Given the description of an element on the screen output the (x, y) to click on. 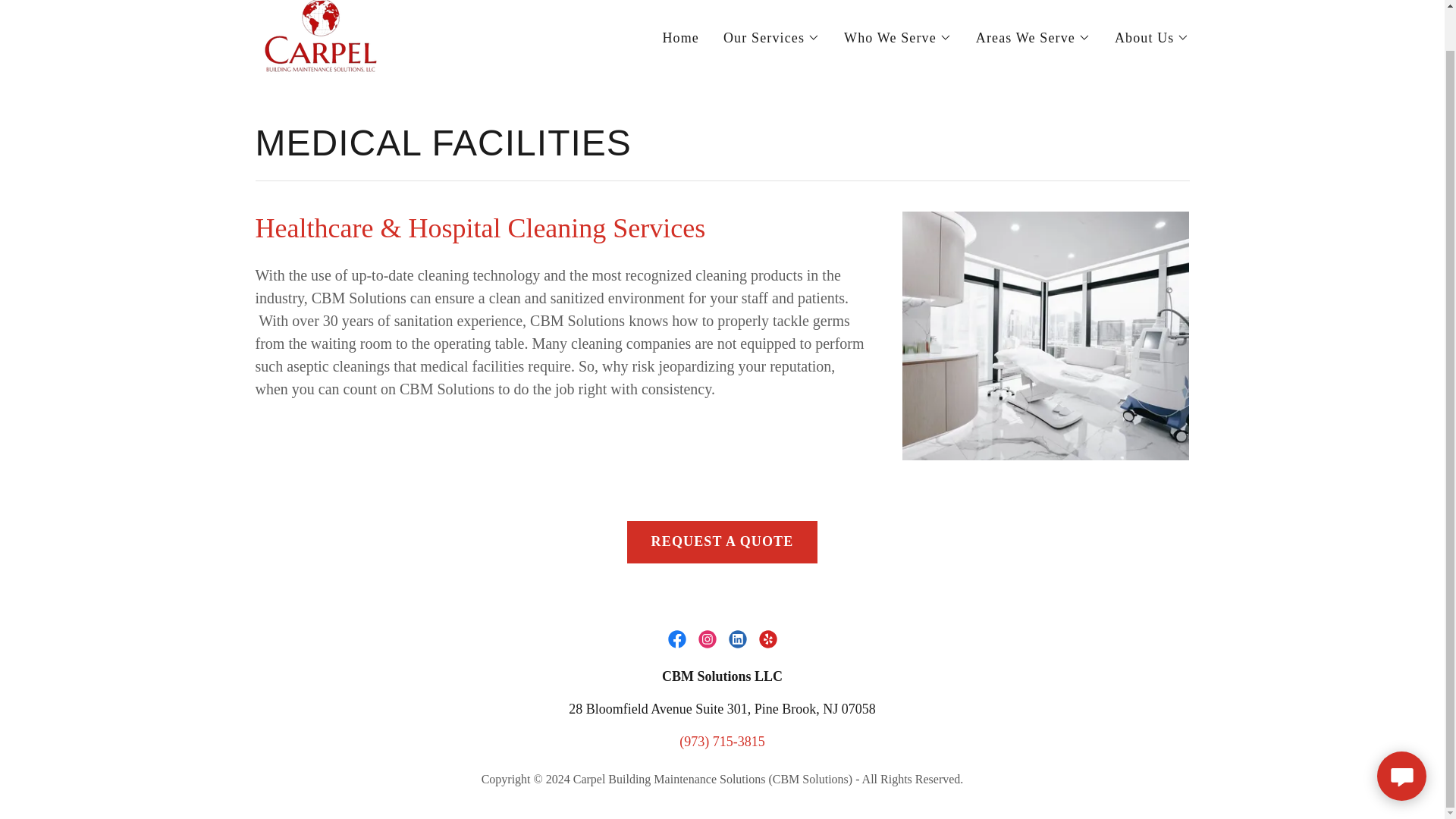
Areas We Serve (1032, 37)
About Us (1152, 37)
Who We Serve (898, 37)
Home (680, 37)
Our Services (771, 37)
